Given the description of an element on the screen output the (x, y) to click on. 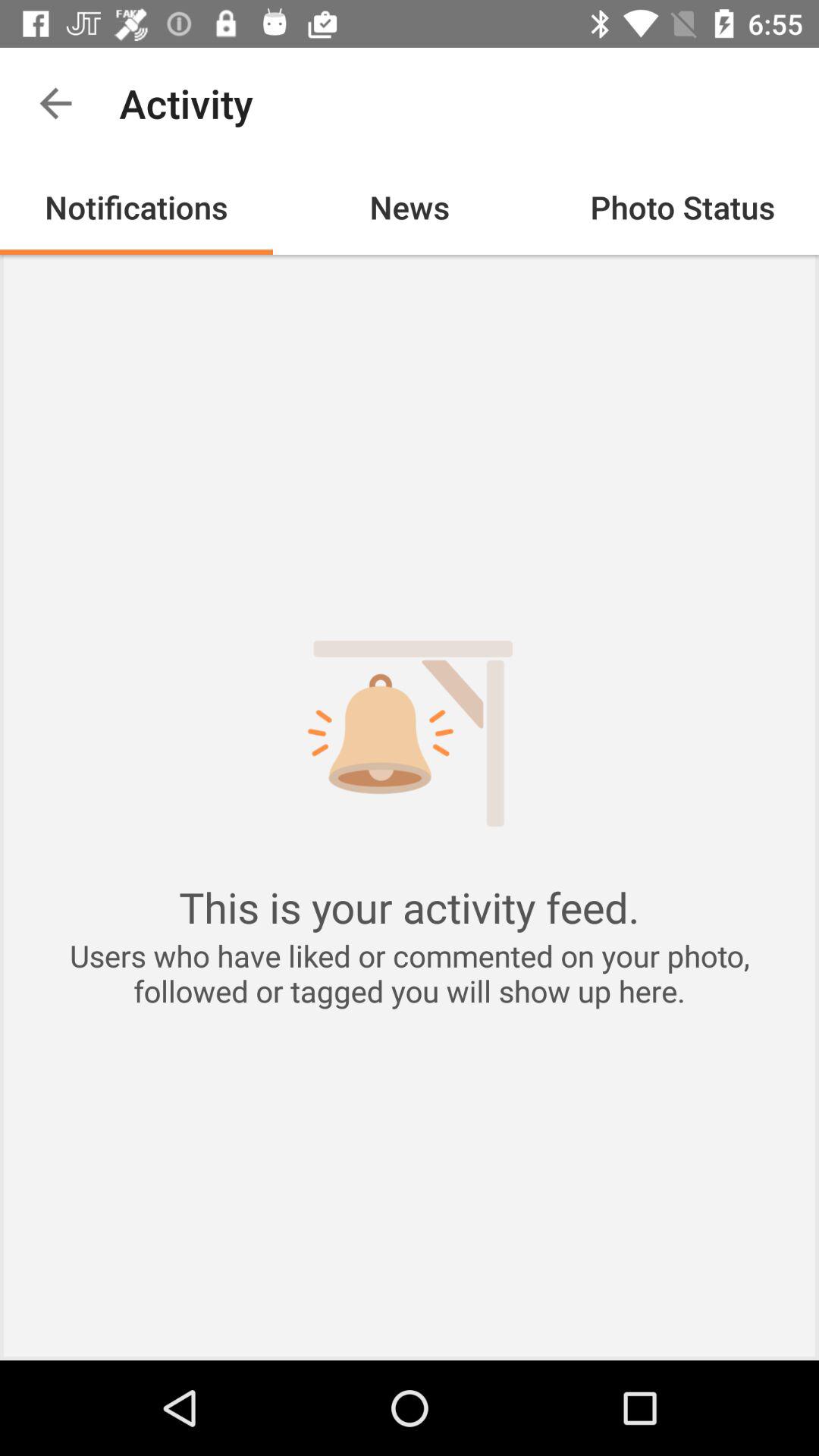
open the item to the left of the activity app (55, 103)
